Given the description of an element on the screen output the (x, y) to click on. 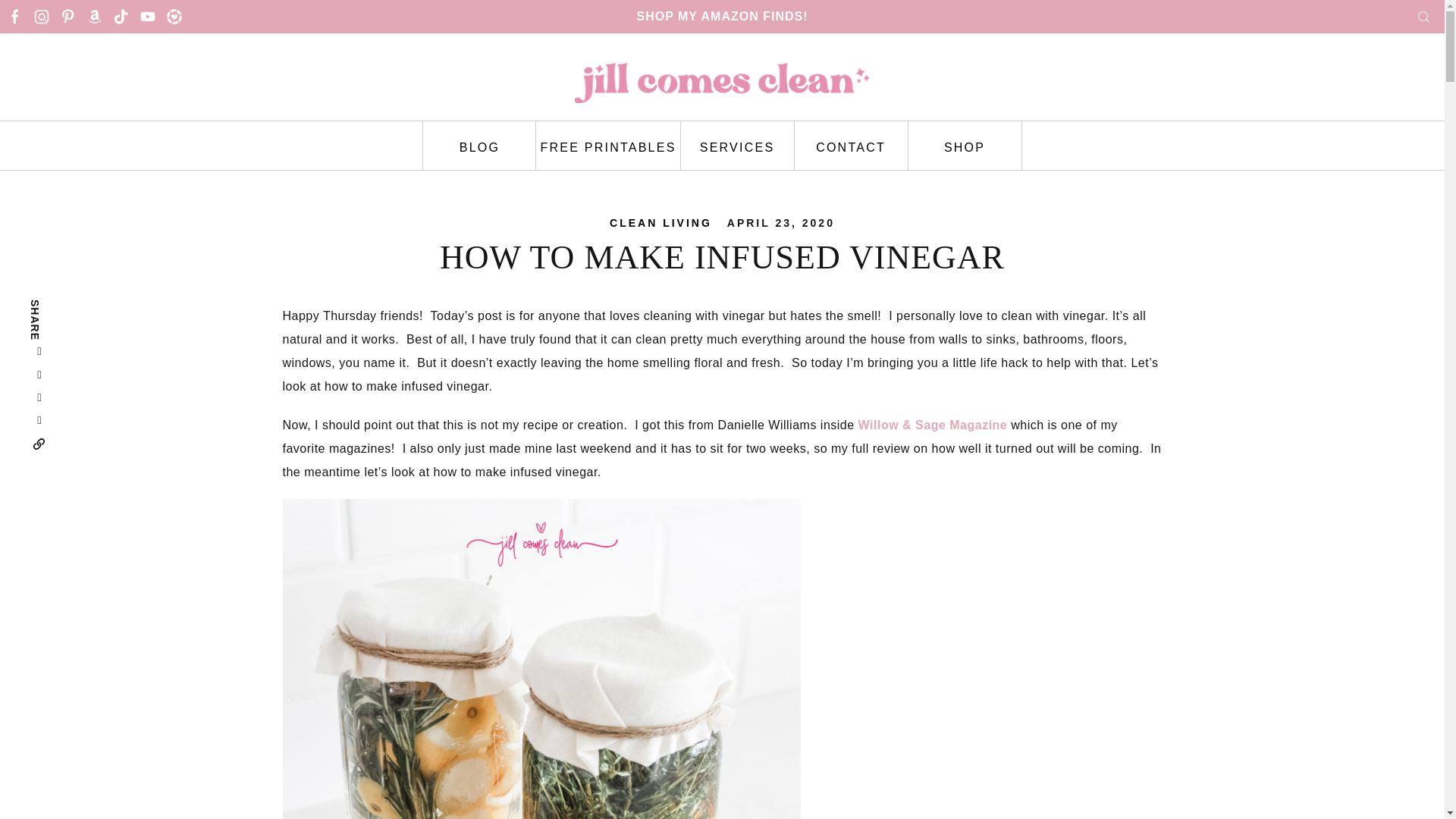
CONTACT (851, 145)
SHOP (965, 145)
SERVICES (737, 145)
SHOP MY AMAZON FINDS! (722, 16)
BLOG (478, 145)
FREE PRINTABLES (607, 145)
CLEAN LIVING (660, 222)
